Given the description of an element on the screen output the (x, y) to click on. 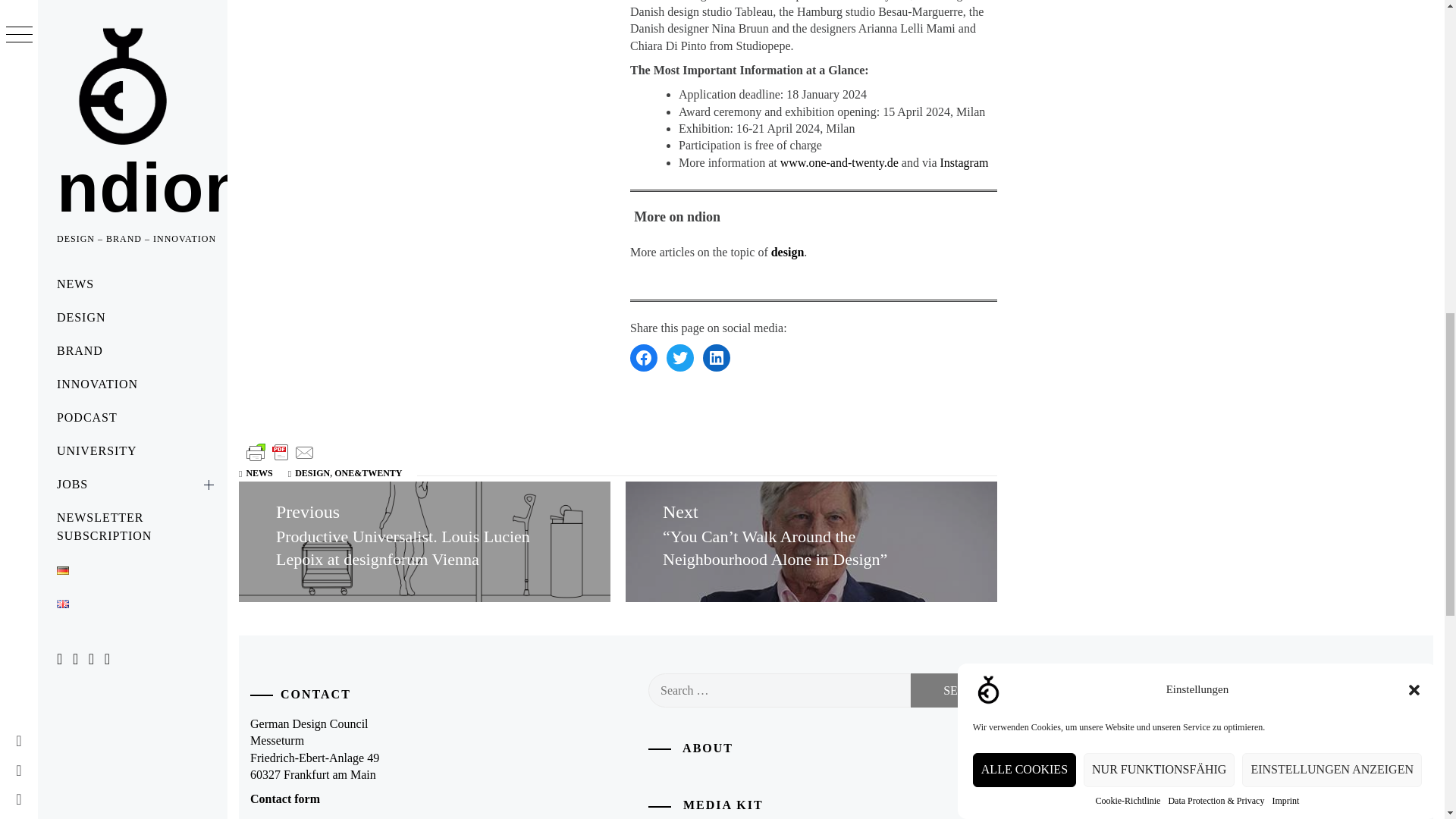
www.one-and-twenty.de (839, 162)
Search (967, 690)
ALLE COOKIES (1023, 178)
Imprint (1284, 69)
Search (967, 690)
EINSTELLUNGEN ANZEIGEN (1331, 124)
Cookie-Richtlinie (1127, 102)
